Given the description of an element on the screen output the (x, y) to click on. 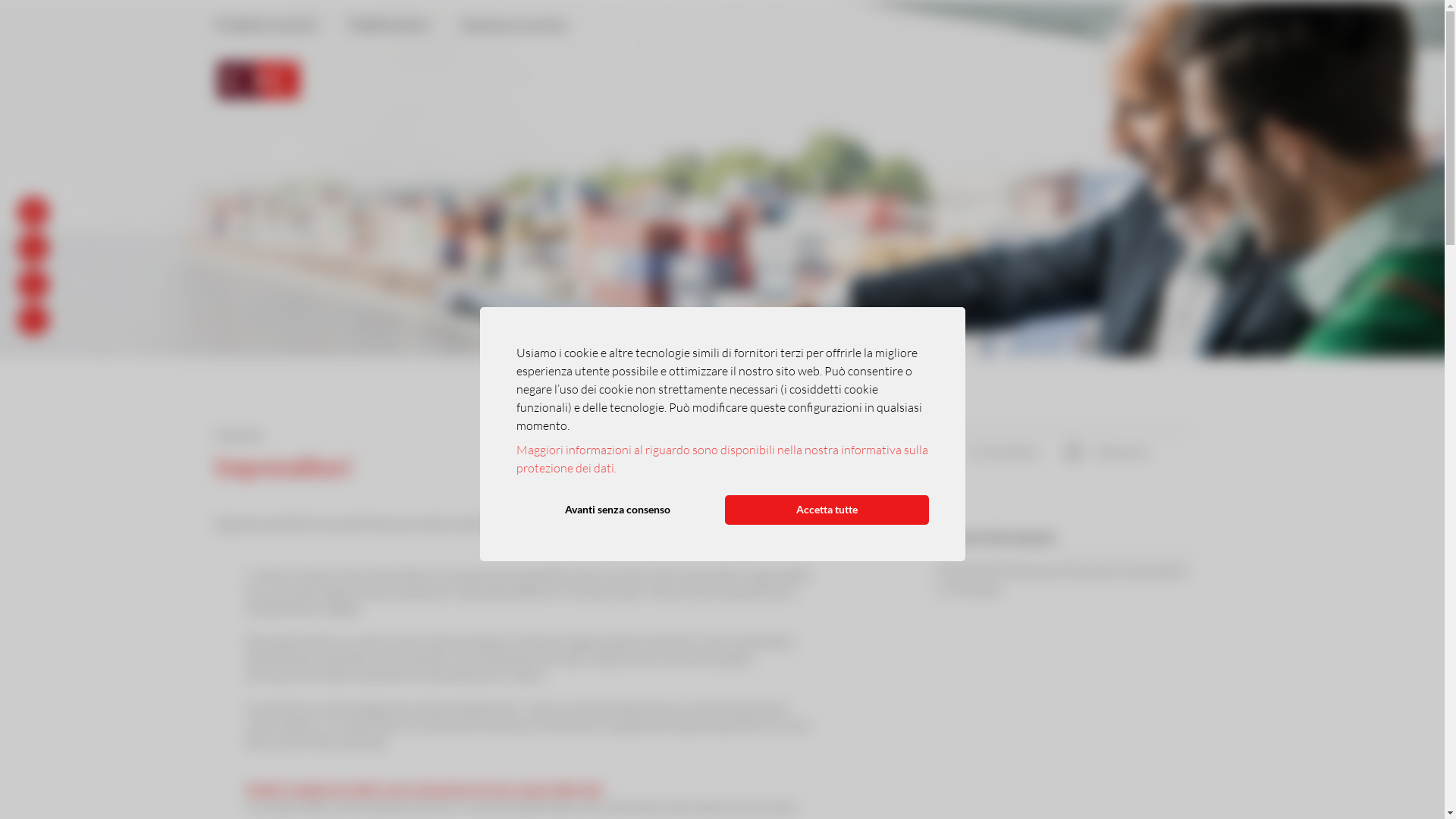
Avanti senza consenso Element type: text (616, 509)
Accetta tutte Element type: text (826, 509)
SEDI Element type: text (42, 284)
CIC eLounge Element type: text (1051, 24)
